Given the description of an element on the screen output the (x, y) to click on. 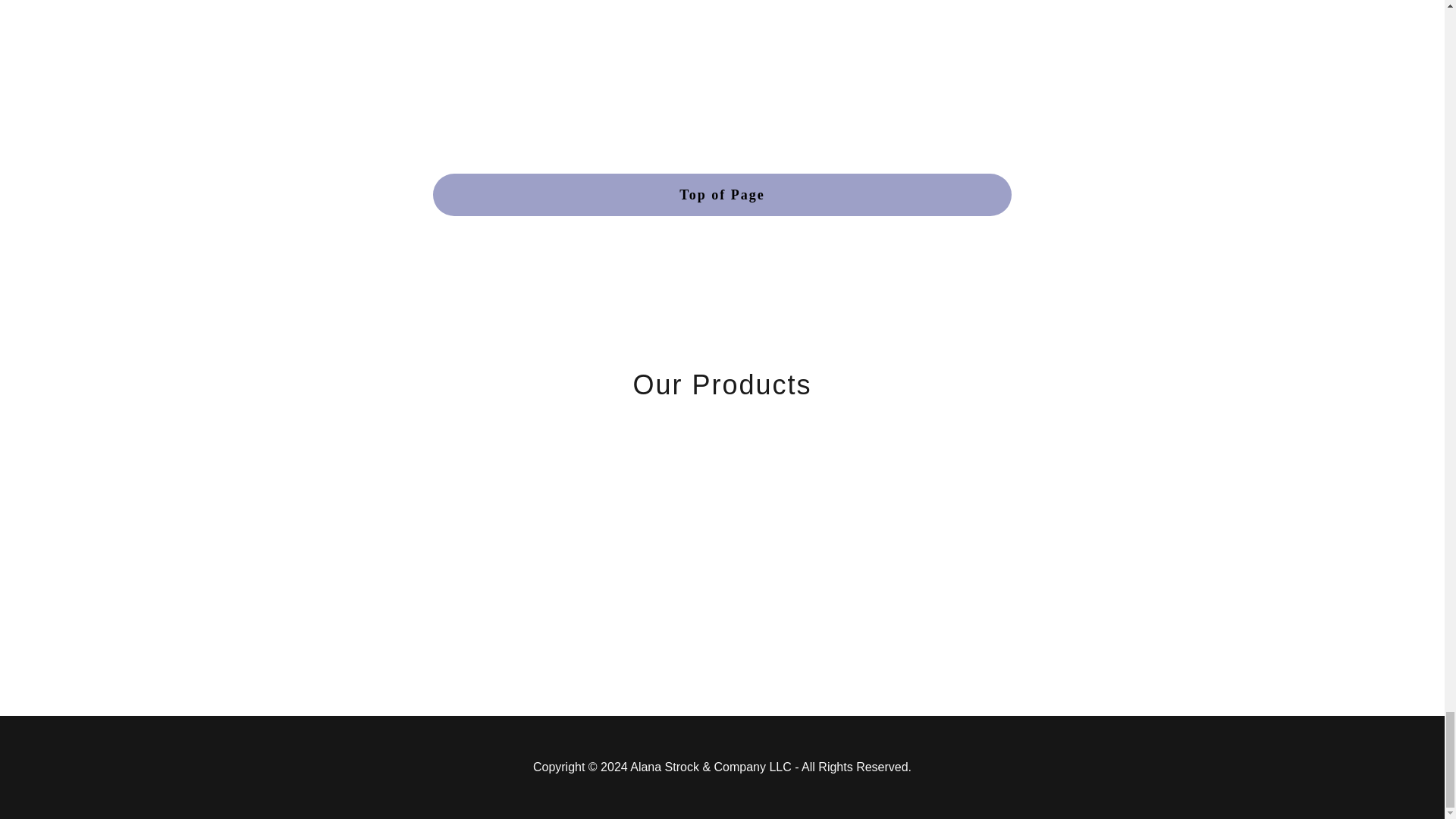
Top of Page (721, 194)
